Given the description of an element on the screen output the (x, y) to click on. 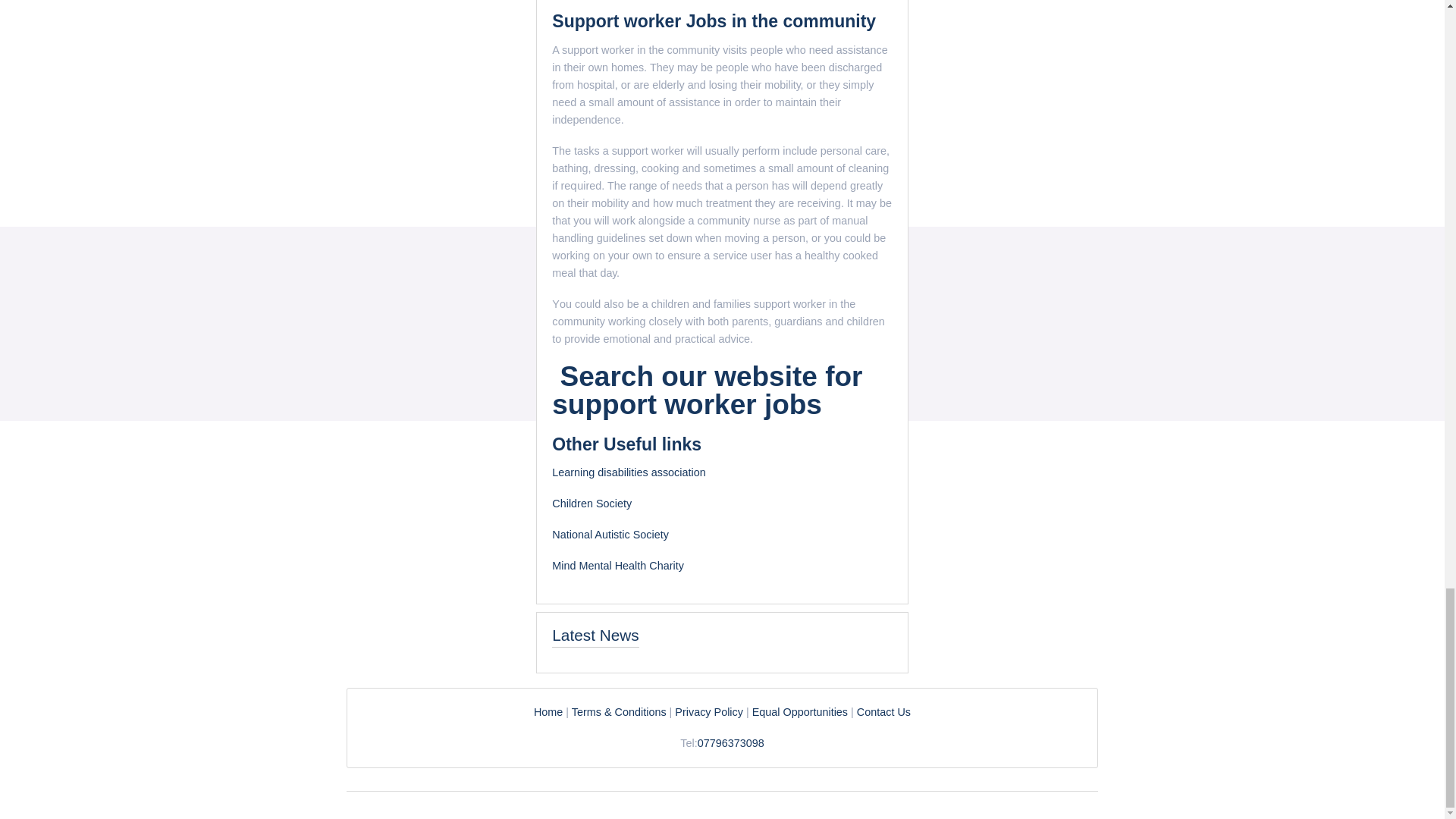
support worker jobs  (690, 404)
Learning disabilities association (627, 472)
Children Society (591, 503)
Mind Mental Health Charity (617, 565)
National Autistic Society  (611, 534)
